Given the description of an element on the screen output the (x, y) to click on. 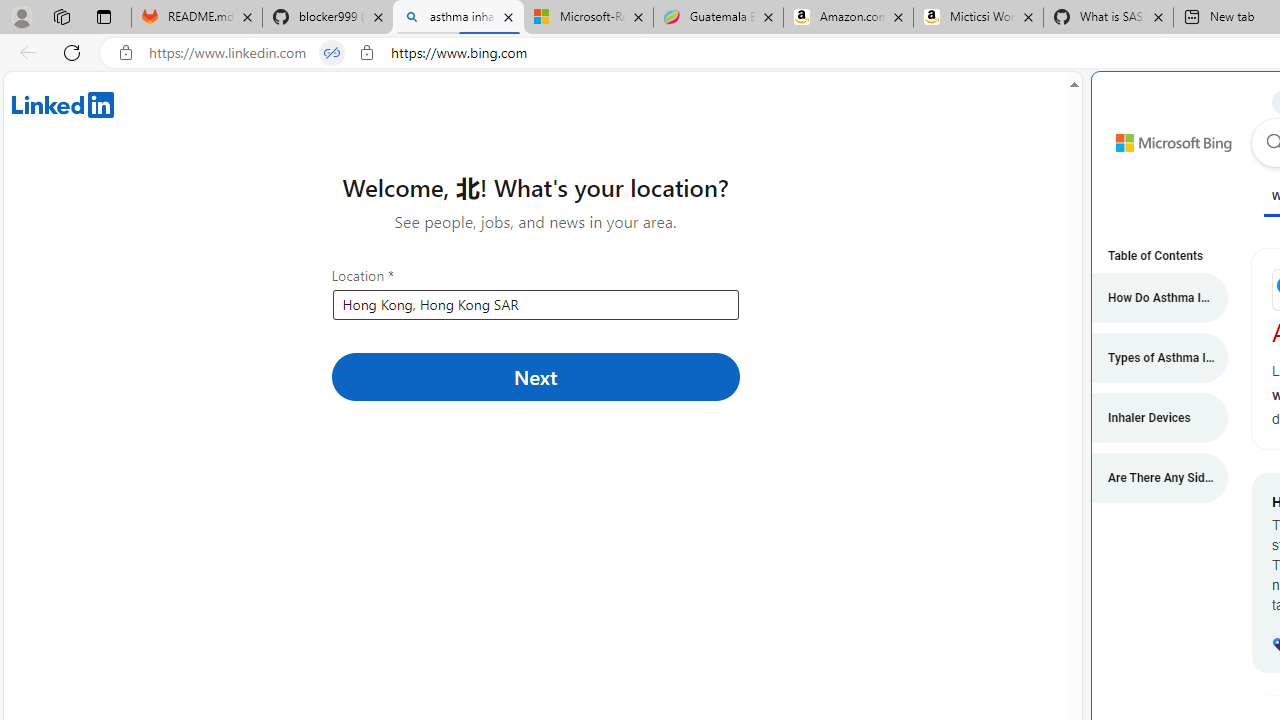
How Do Asthma Inhalers Work? (1149, 297)
Are There Any Side-Effects from Asthma Inhalers? (1149, 477)
